Given the description of an element on the screen output the (x, y) to click on. 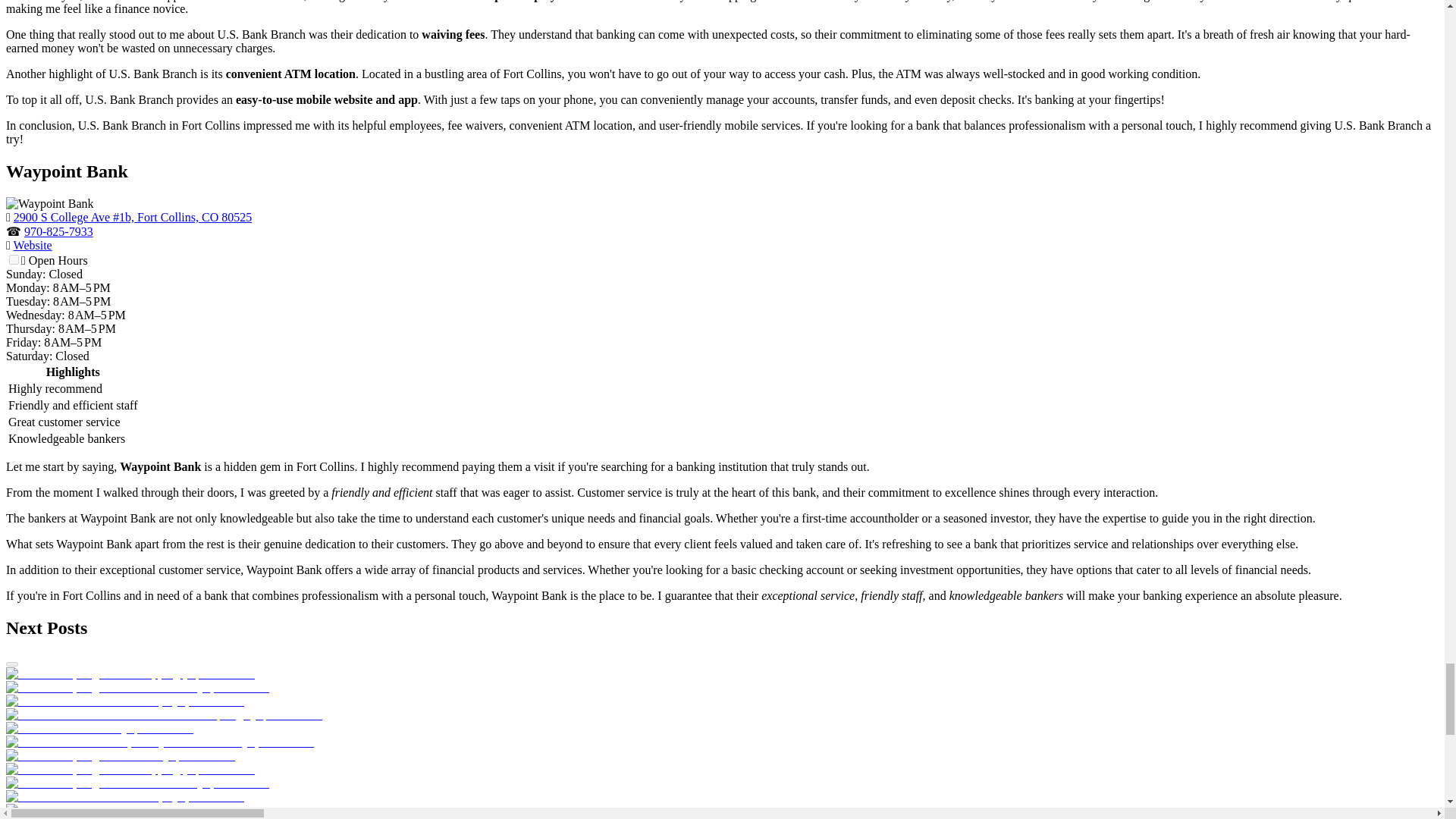
on (13, 259)
